Given the description of an element on the screen output the (x, y) to click on. 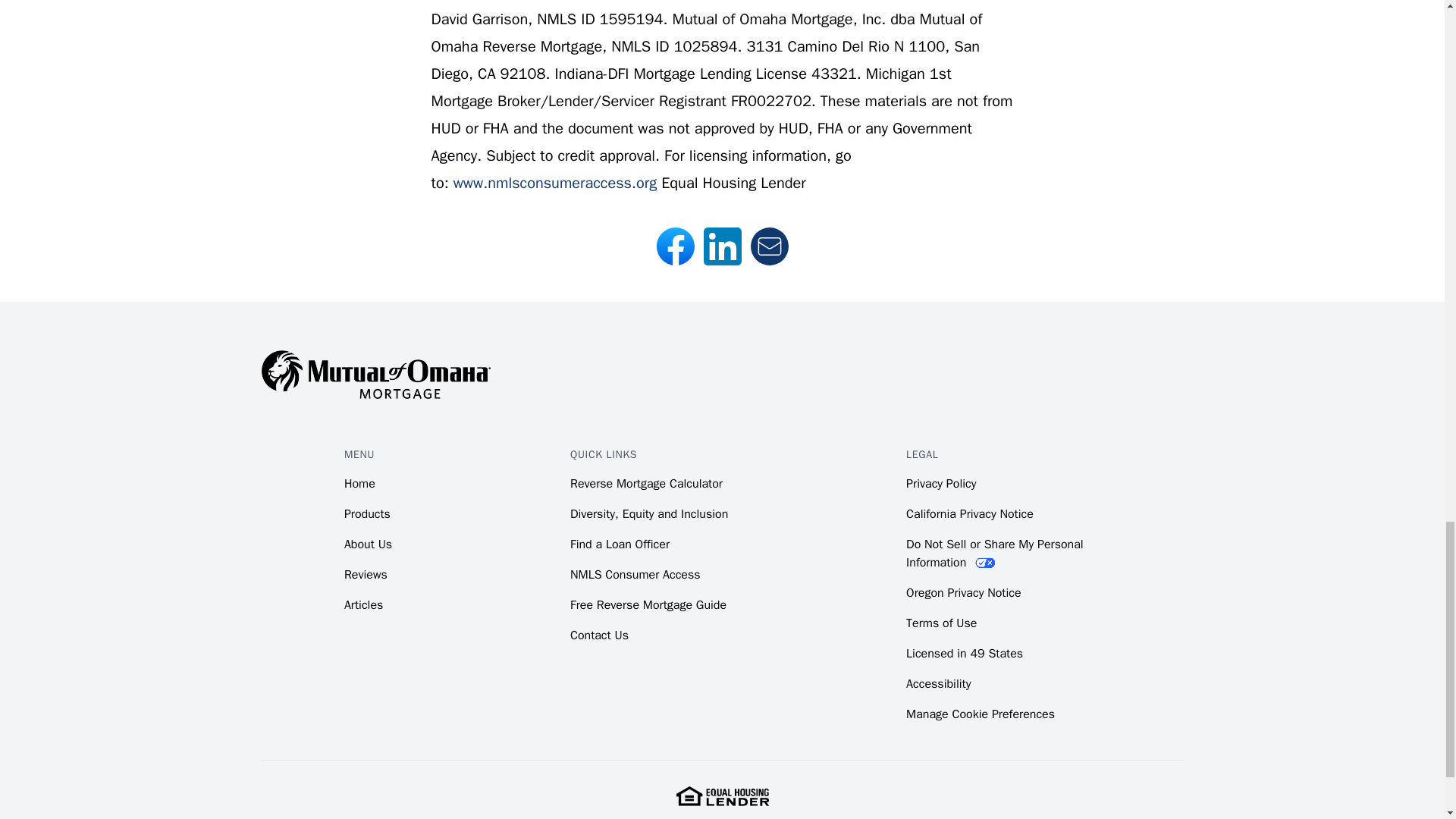
Products (366, 513)
Do Not Sell or Share My Personal Information (994, 553)
Oregon Privacy Notice (962, 592)
Free Reverse Mortgage Guide (648, 604)
Privacy Policy (940, 483)
Reviews (365, 574)
Articles (362, 604)
Reverse Mortgage Calculator (646, 483)
Find a Loan Officer (619, 544)
Contact Us (599, 635)
Diversity, Equity and Inclusion (649, 513)
About Us (367, 544)
www.nmlsconsumeraccess.org (554, 182)
NMLS Consumer Access (635, 574)
Home (359, 483)
